Given the description of an element on the screen output the (x, y) to click on. 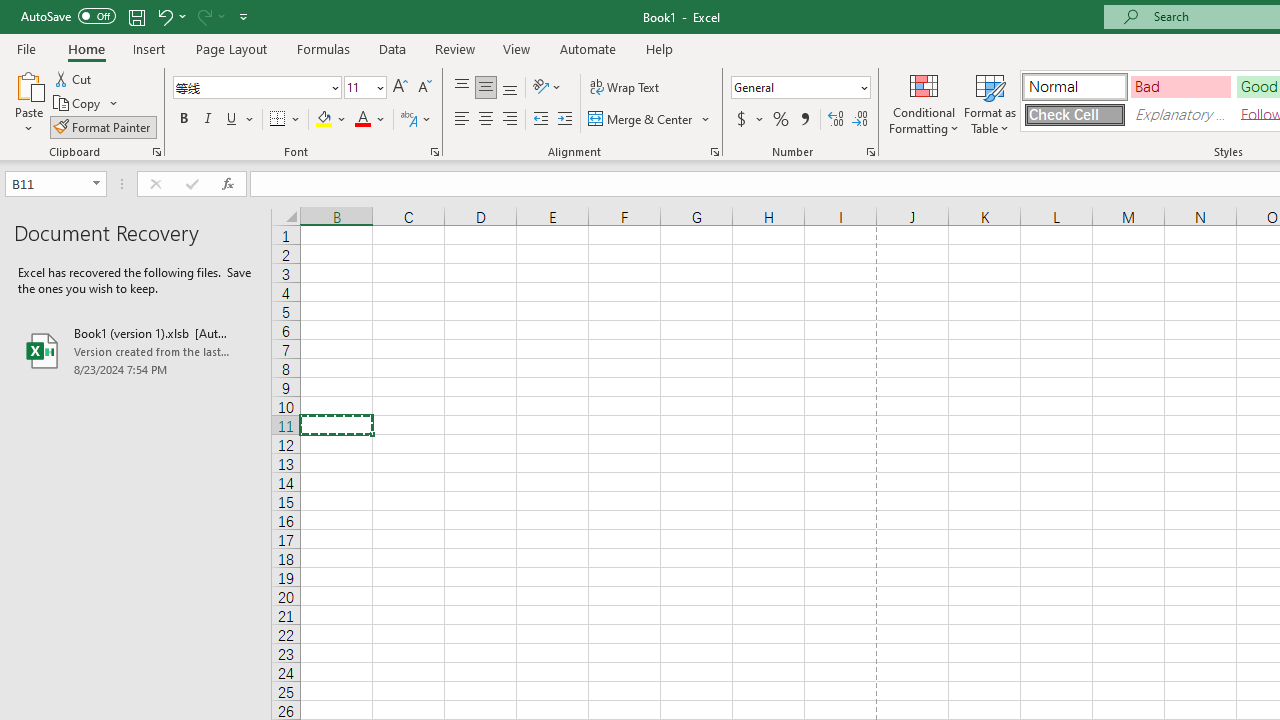
Fill Color RGB(255, 255, 0) (324, 119)
Accounting Number Format (741, 119)
Copy (78, 103)
Format Cell Number (870, 151)
Show Phonetic Field (408, 119)
Format Cell Font (434, 151)
Font (250, 87)
Font Color (370, 119)
Copy (85, 103)
Number Format (800, 87)
